Given the description of an element on the screen output the (x, y) to click on. 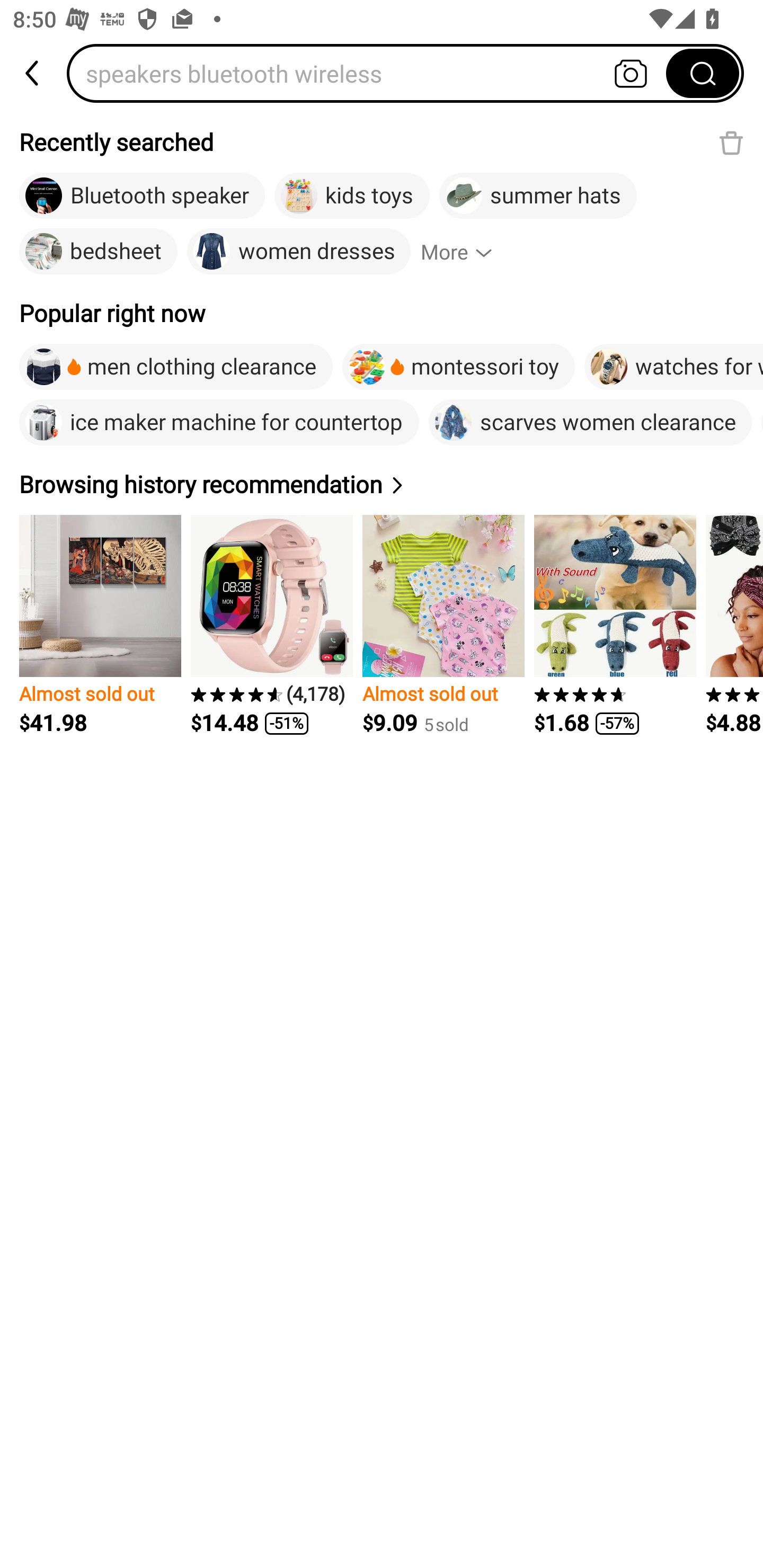
back (33, 72)
speakers bluetooth wireless (372, 73)
Search by photo (630, 73)
Delete recent search (731, 142)
Bluetooth speaker (141, 195)
kids toys (351, 195)
summer hats (538, 195)
bedsheet (98, 251)
women dresses (298, 251)
More (464, 251)
men clothing clearance (175, 366)
montessori toy (458, 366)
watches for women (673, 366)
ice maker machine for countertop (218, 422)
scarves women clearance (589, 422)
Browsing history recommendation (213, 484)
Almost sold out $41.98 (100, 625)
(4,178) $14.48 -51% (271, 625)
Almost sold out $9.09 5￼sold (443, 625)
$1.68 -57% (614, 625)
